Given the description of an element on the screen output the (x, y) to click on. 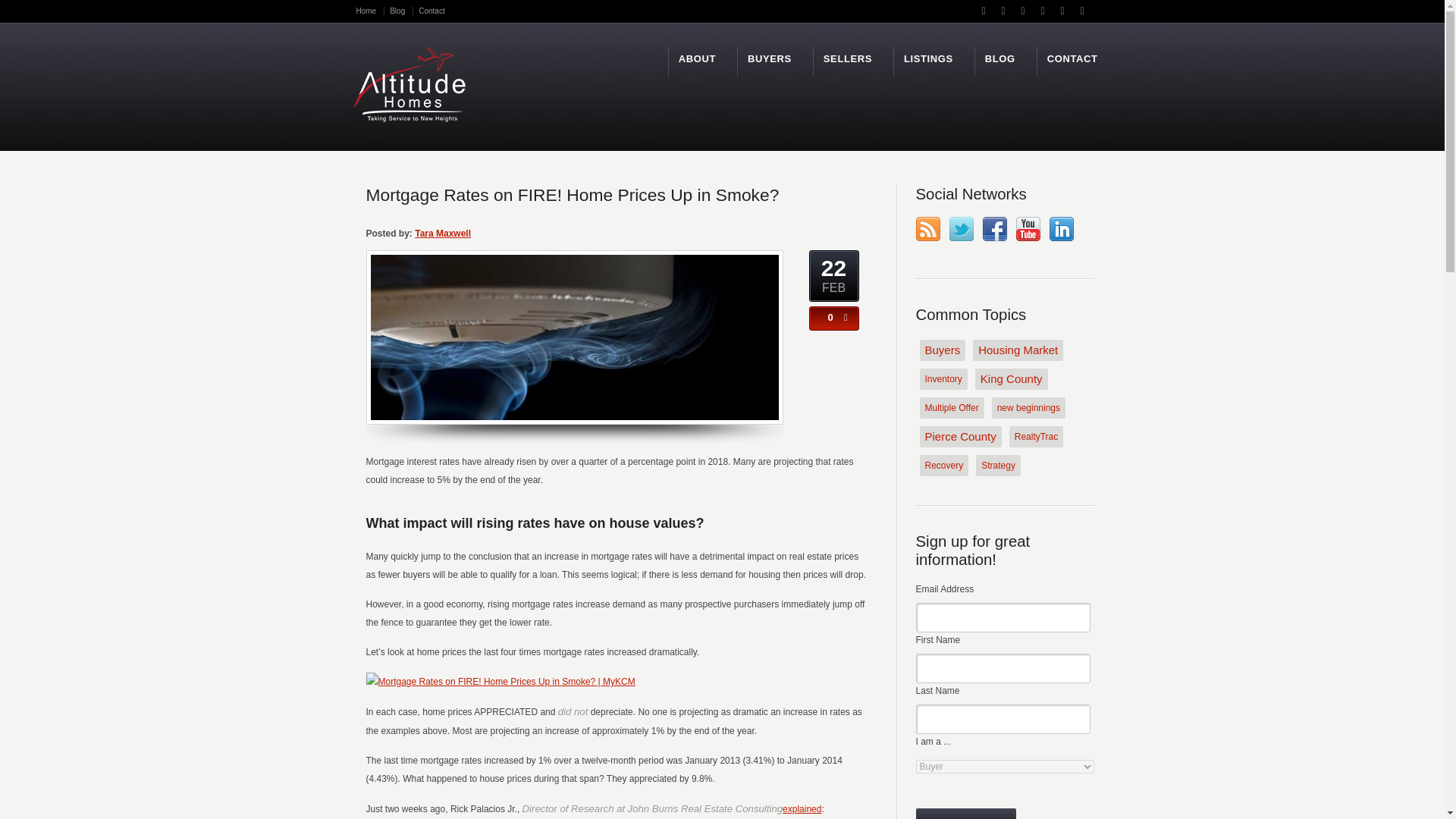
RSS Feed (927, 228)
0 (826, 317)
Buyers (941, 350)
BUYERS (770, 58)
CONTACT (1071, 58)
YouTube (1028, 228)
Facebook (994, 228)
Multiple Offer (951, 407)
SELLERS (848, 58)
King County (1011, 378)
